Given the description of an element on the screen output the (x, y) to click on. 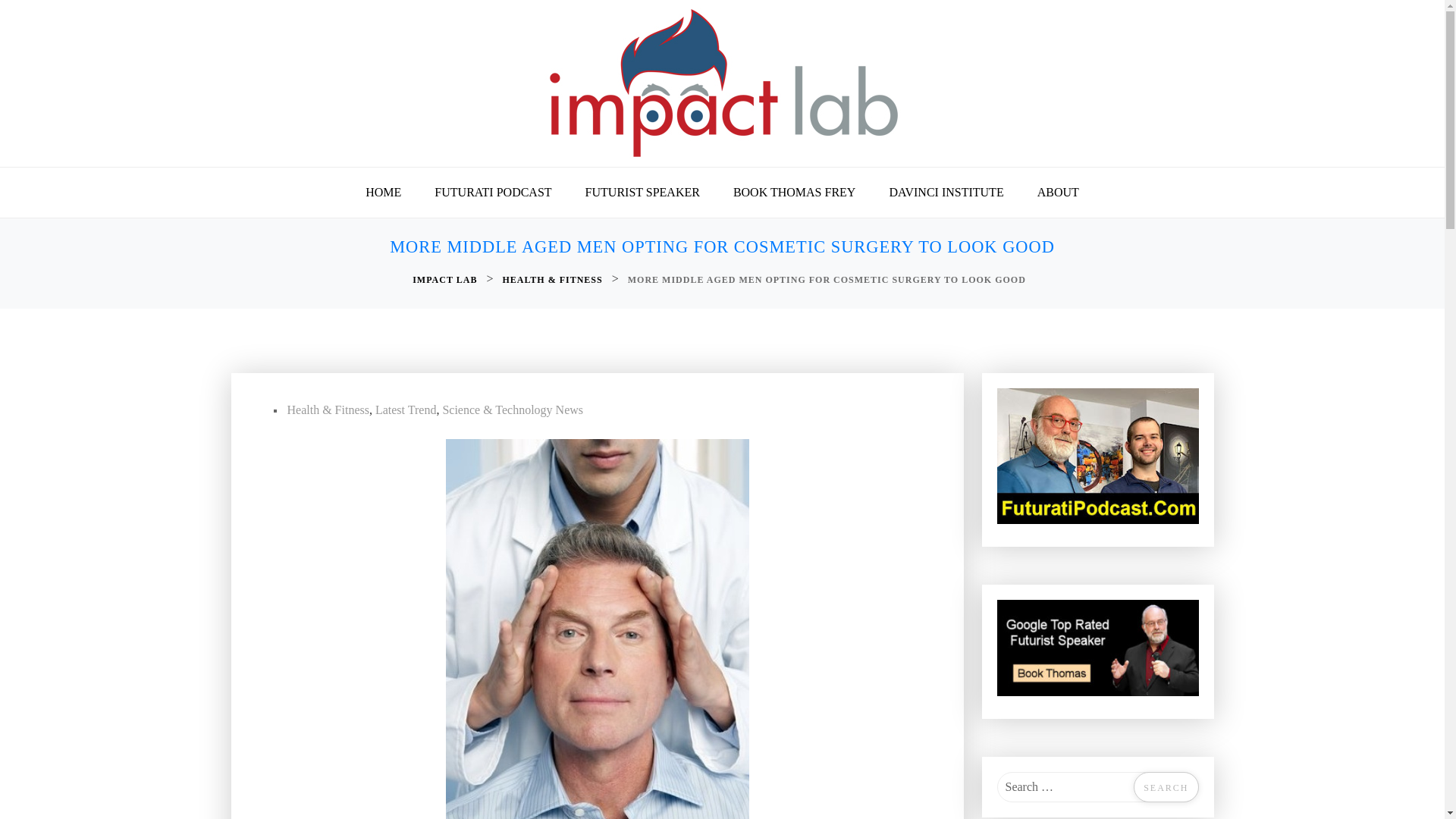
HOME (383, 192)
DAVINCI INSTITUTE (945, 192)
Go to Impact Lab. (446, 279)
Latest Trend (405, 410)
BOOK THOMAS FREY (793, 192)
Search (1166, 787)
FUTURATI PODCAST (492, 192)
IMPACT LAB (446, 279)
ABOUT (1058, 192)
FUTURIST SPEAKER (642, 192)
Search (1166, 787)
Search (1166, 787)
